Given the description of an element on the screen output the (x, y) to click on. 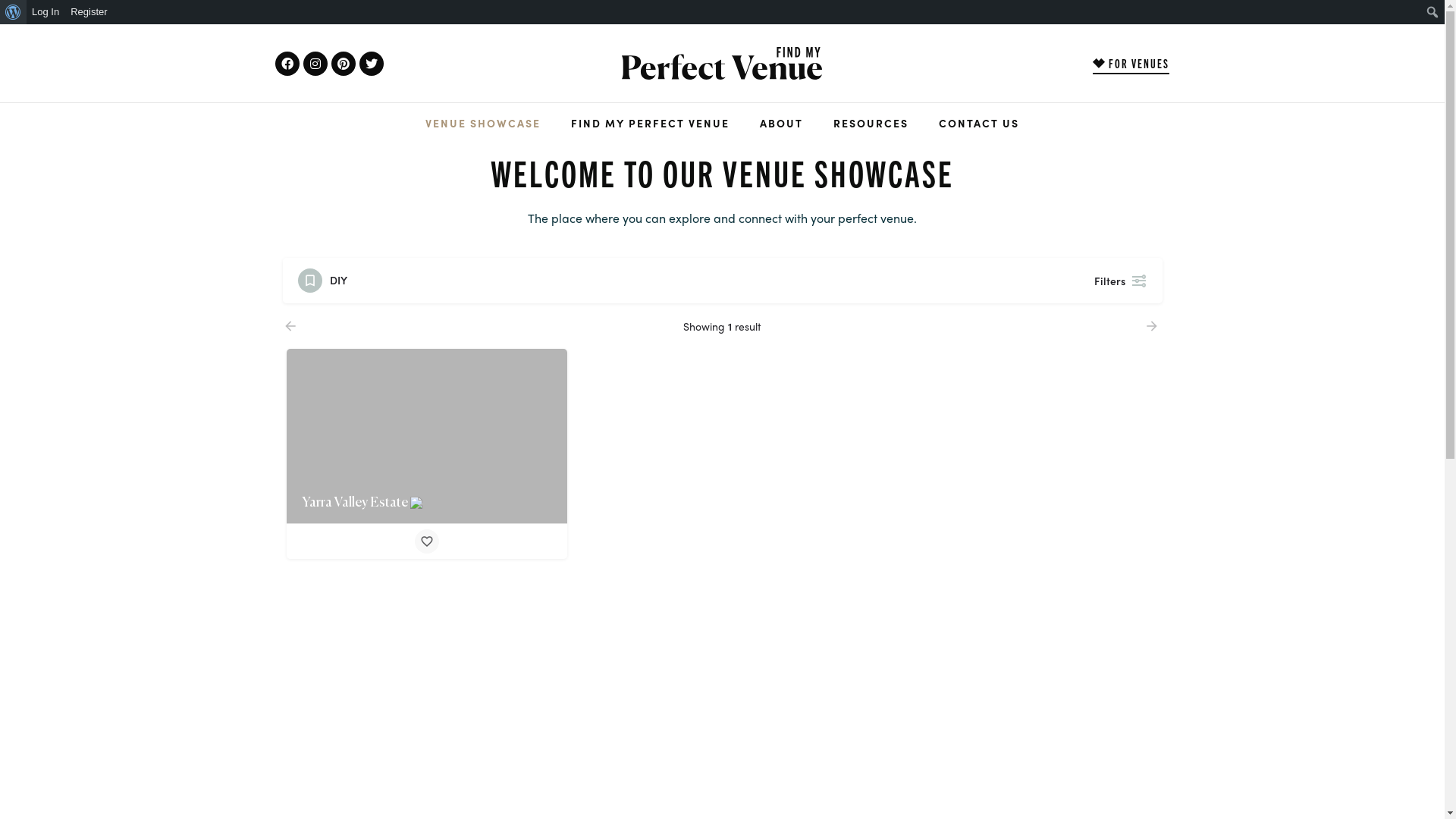
Register Element type: text (88, 12)
Filters Element type: text (1115, 280)
FIND MY PERFECT VENUE Element type: text (649, 122)
RESOURCES Element type: text (870, 122)
VENUE SHOWCASE Element type: text (482, 122)
Search Element type: text (15, 12)
ABOUT Element type: text (781, 122)
CONTACT US Element type: text (978, 122)
Log In Element type: text (45, 12)
FOR VENUES Element type: text (1130, 63)
Yarra Valley Estate Element type: text (426, 435)
